Given the description of an element on the screen output the (x, y) to click on. 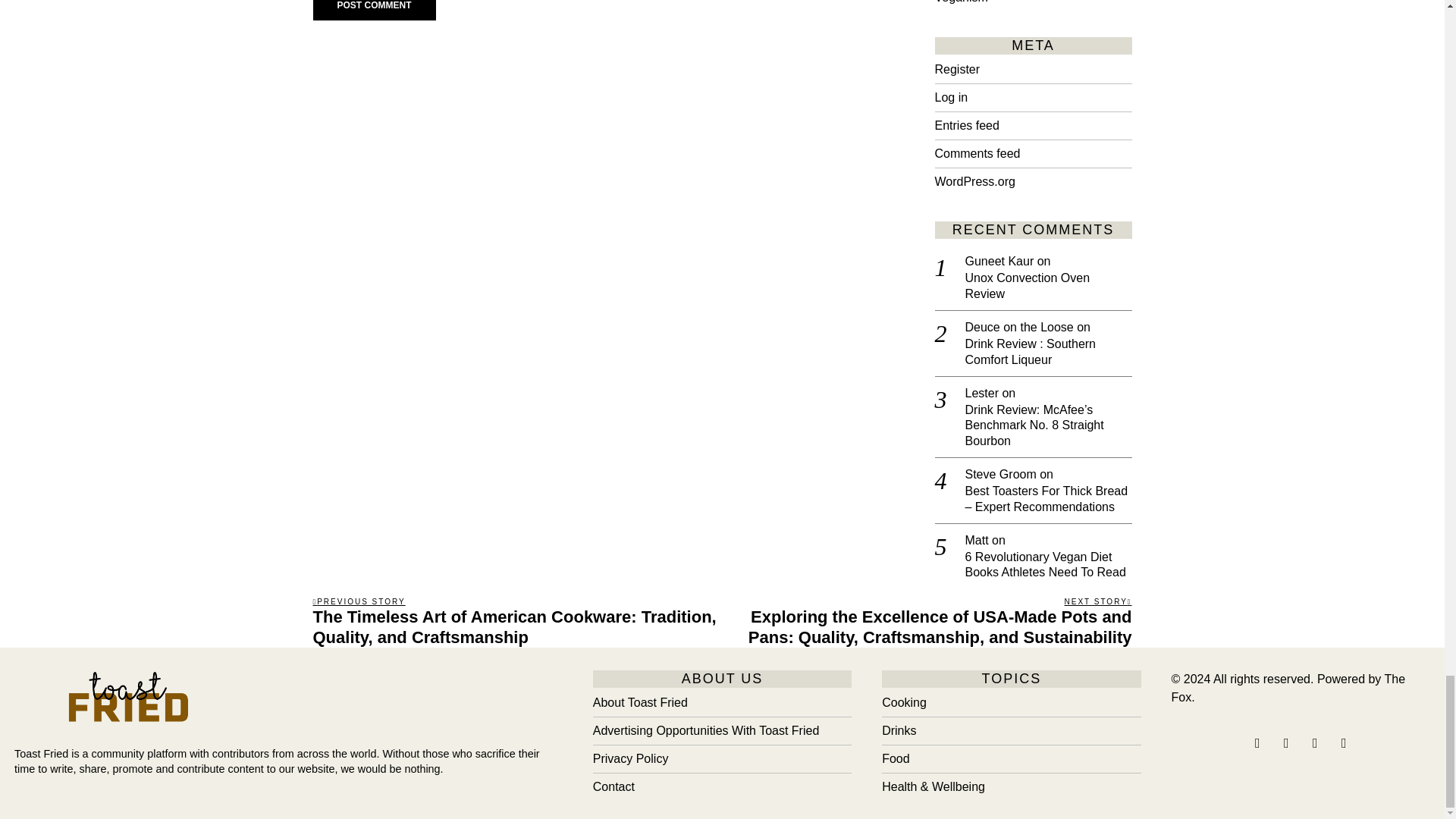
Post Comment (374, 10)
